Given the description of an element on the screen output the (x, y) to click on. 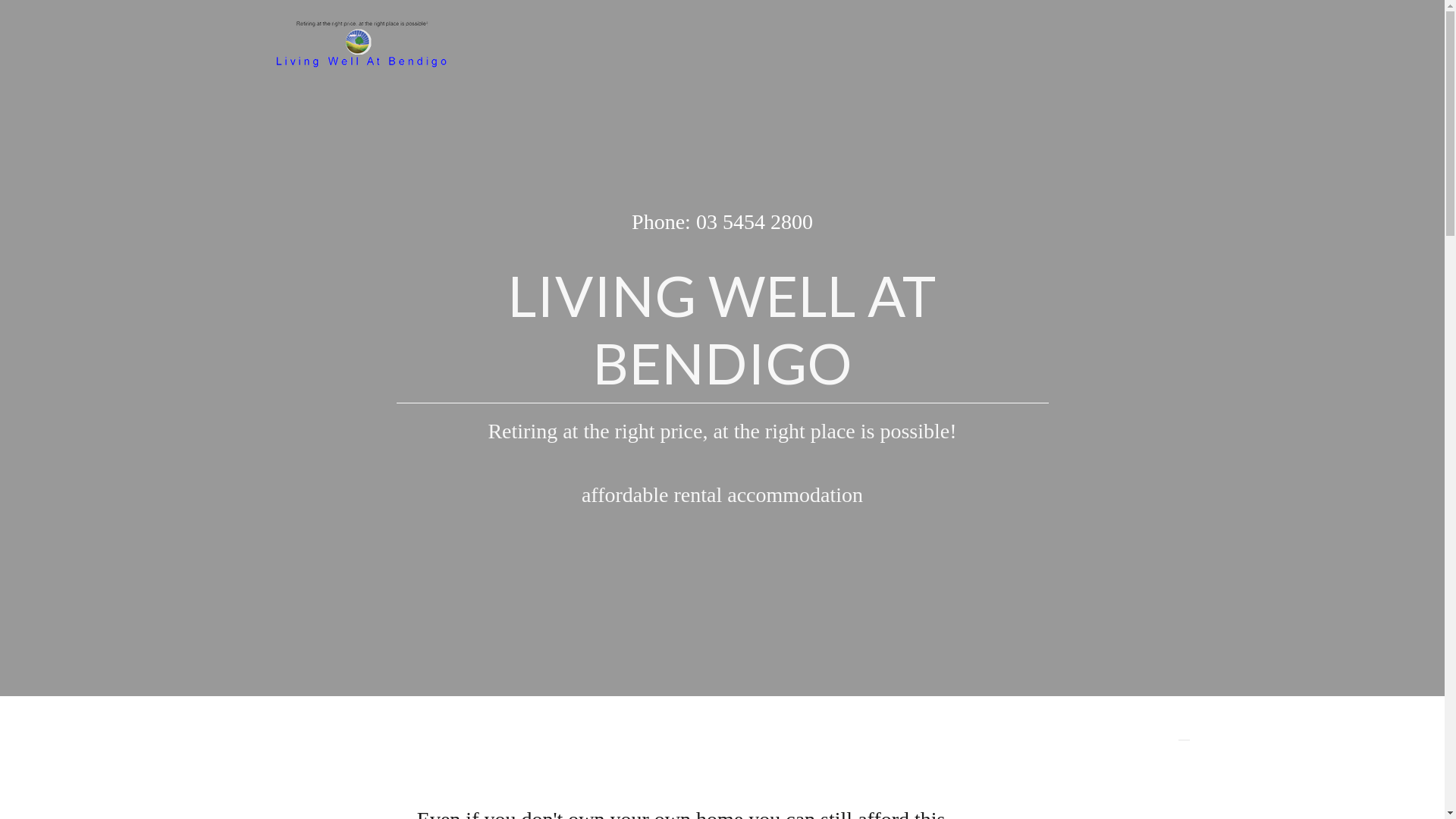
Living Well At Bendigo Element type: hover (360, 40)
03 5454 2800 Element type: text (754, 221)
